Given the description of an element on the screen output the (x, y) to click on. 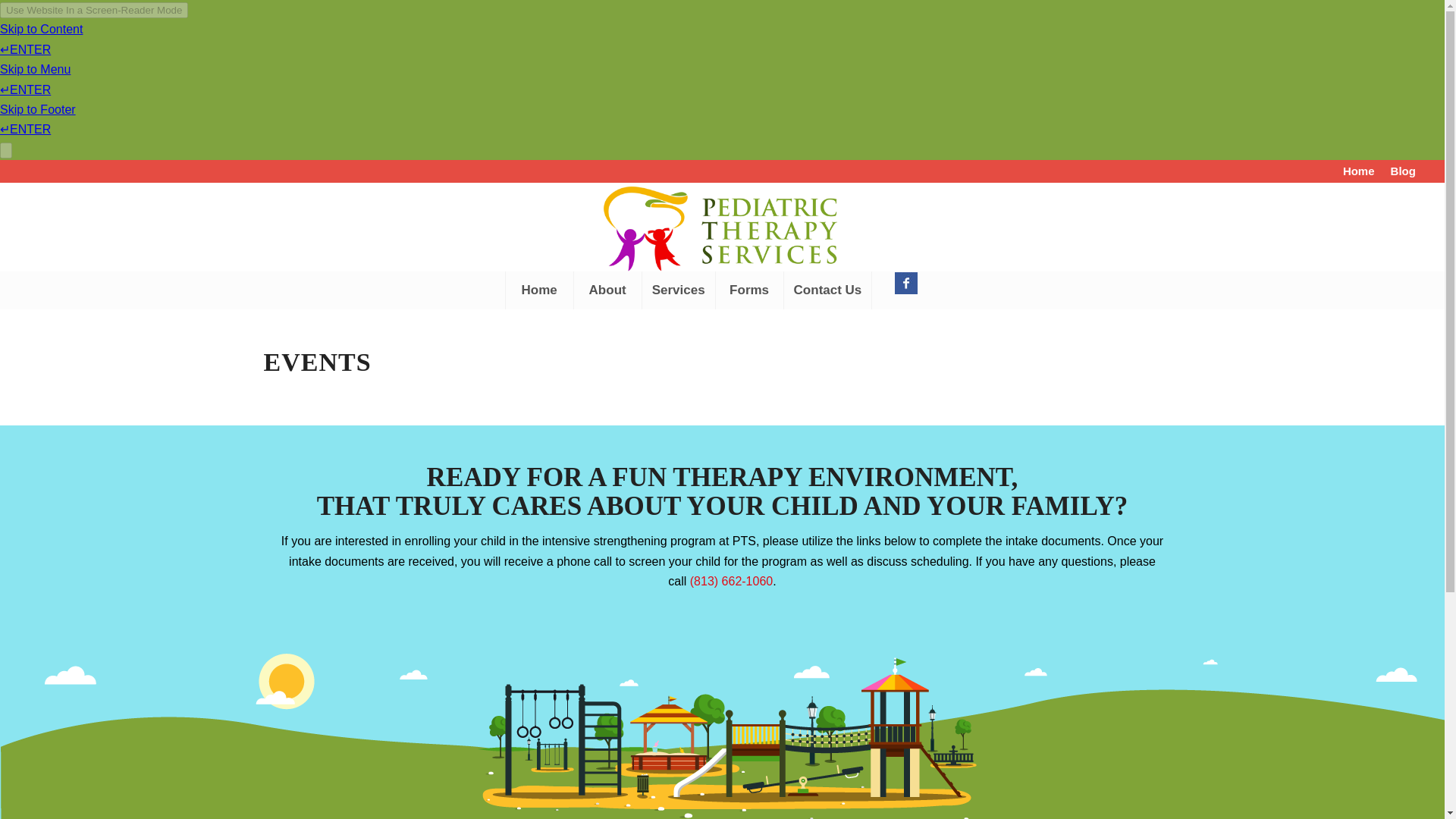
About (607, 290)
Home (539, 290)
MainLogo (722, 228)
Home (1358, 170)
Services (678, 290)
Forms (748, 290)
Blog (1402, 170)
Contact Us (827, 290)
